Given the description of an element on the screen output the (x, y) to click on. 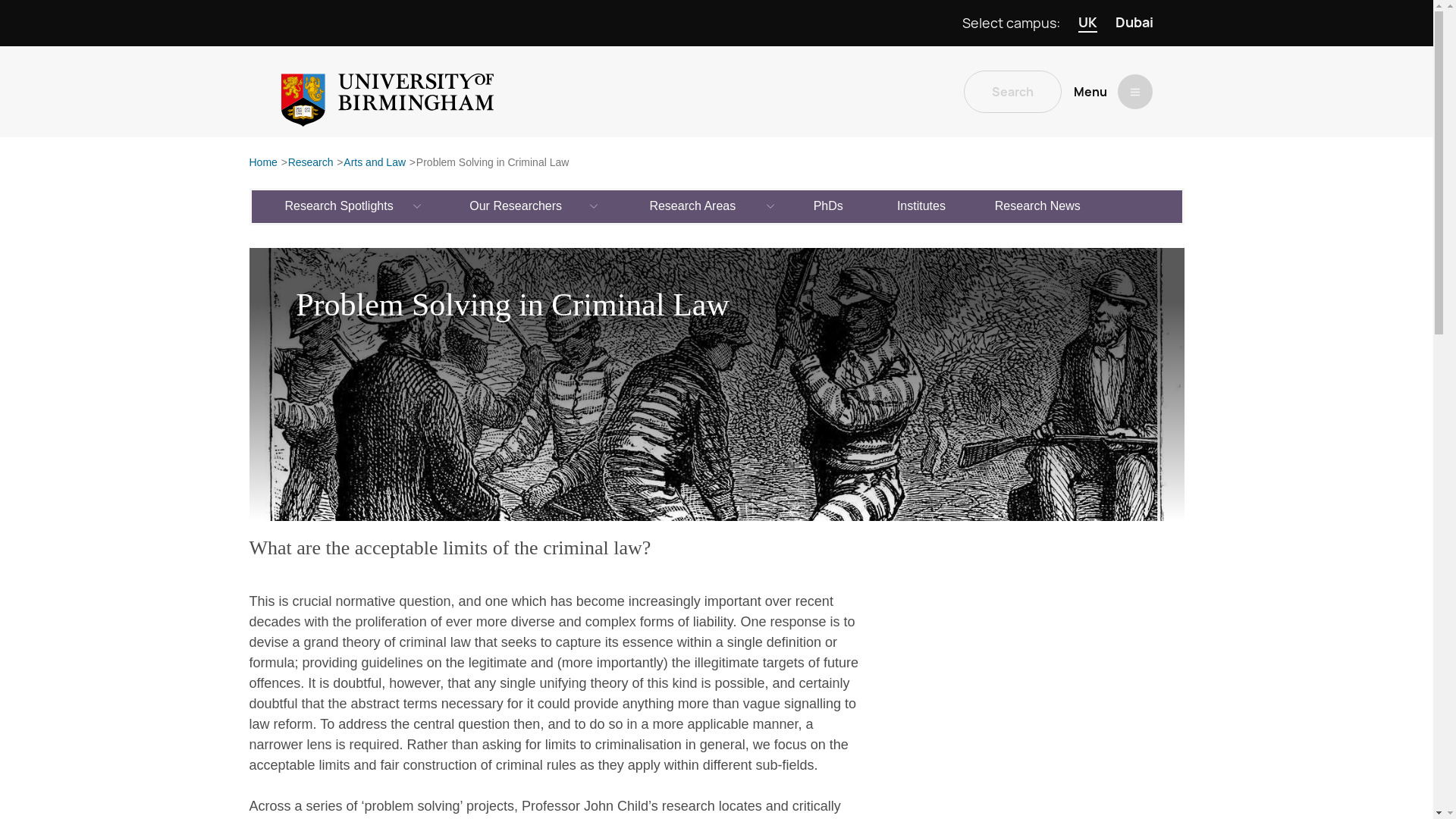
Arts and Law (374, 163)
Research (310, 163)
Problem Solving in Criminal Law (492, 163)
Home (262, 163)
Research Areas (693, 205)
Research Spotlights (339, 205)
Search (1012, 91)
UK (1087, 23)
Our Researchers (516, 205)
Dubai (1134, 23)
